Given the description of an element on the screen output the (x, y) to click on. 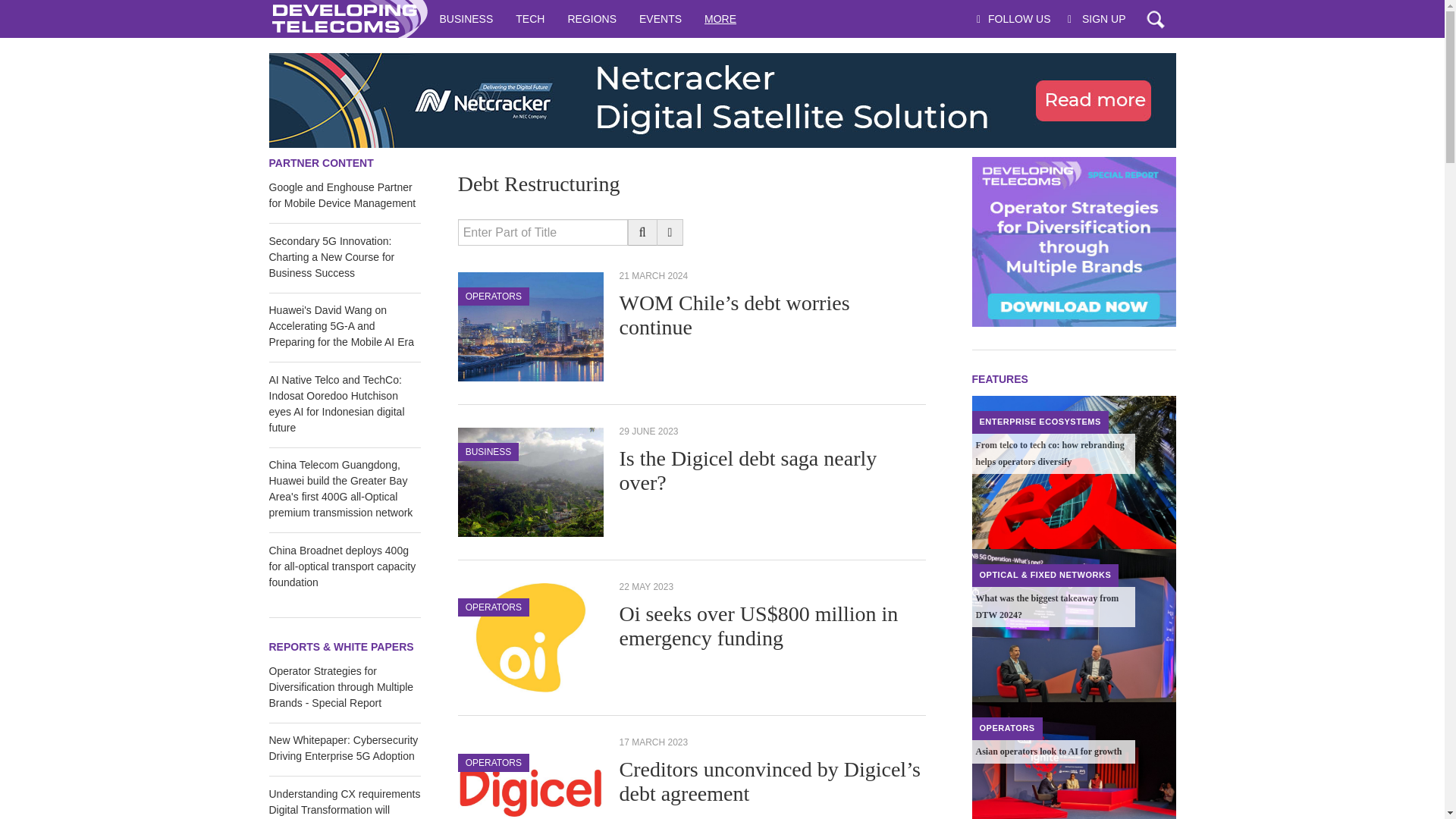
Developing Telecoms (347, 18)
Enter all or part of the title to search for. (542, 232)
Click to follow link (720, 100)
BUSINESS (465, 18)
TECH (529, 18)
REGIONS (591, 18)
